Given the description of an element on the screen output the (x, y) to click on. 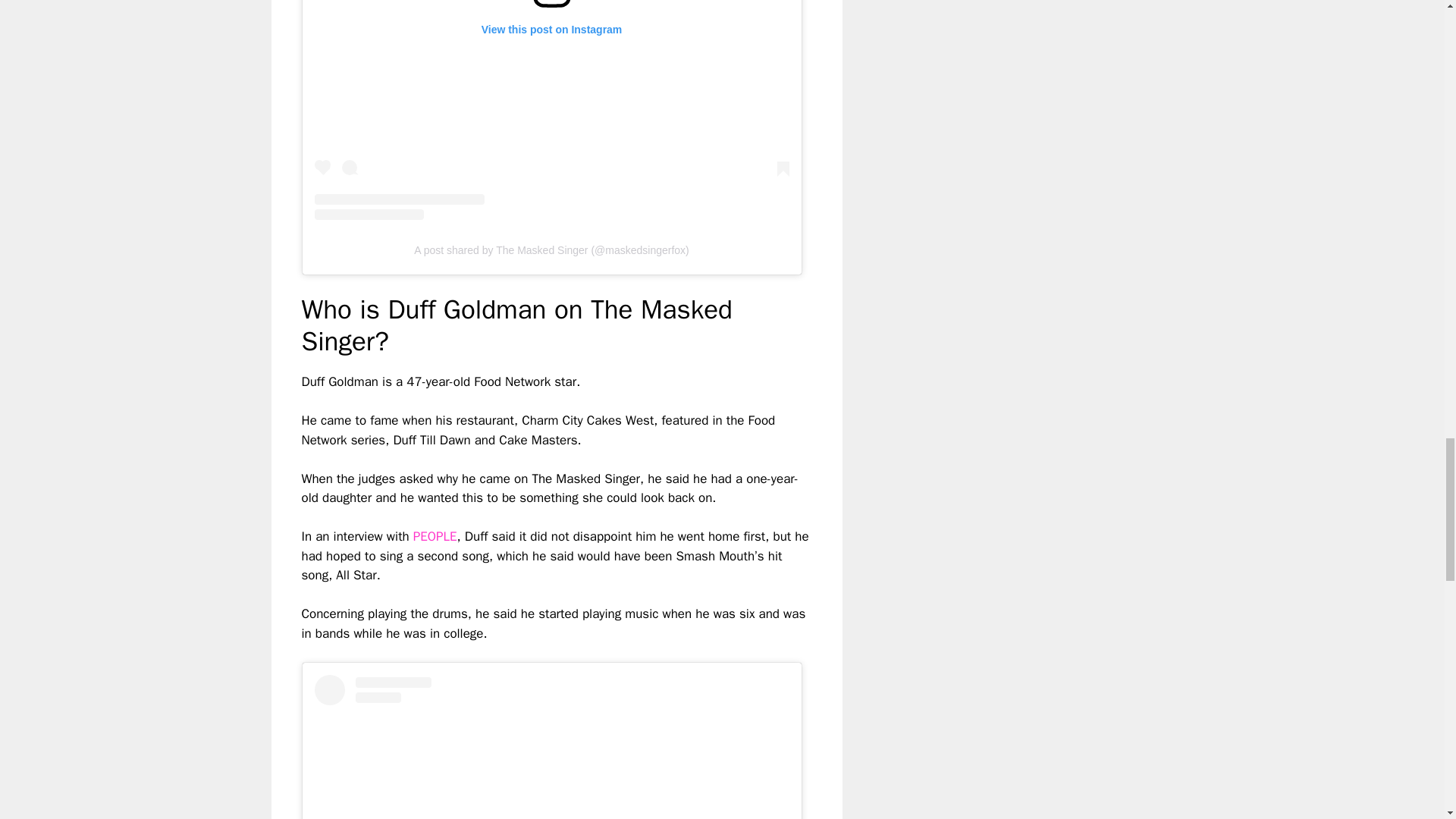
View this post on Instagram (551, 110)
View this post on Instagram (551, 746)
PEOPLE (435, 536)
